Given the description of an element on the screen output the (x, y) to click on. 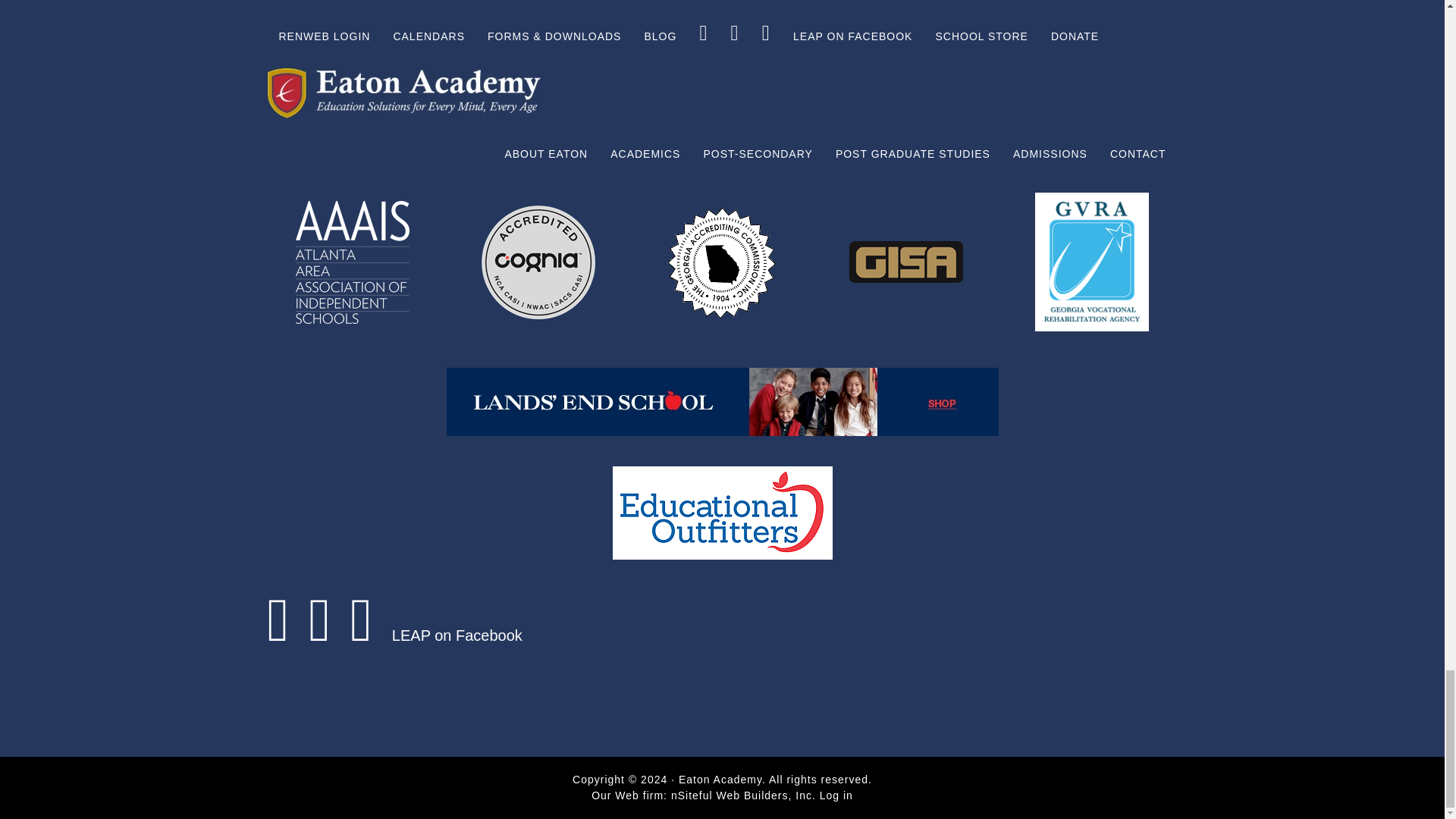
Shop for Eaton School Apparel at Educational Outfitters (721, 512)
Georgia Accrediting Commission (573, 59)
Shop the Lands' End School Uniforms Shop (721, 401)
Follow Eaton on Facebook (277, 635)
